Given the description of an element on the screen output the (x, y) to click on. 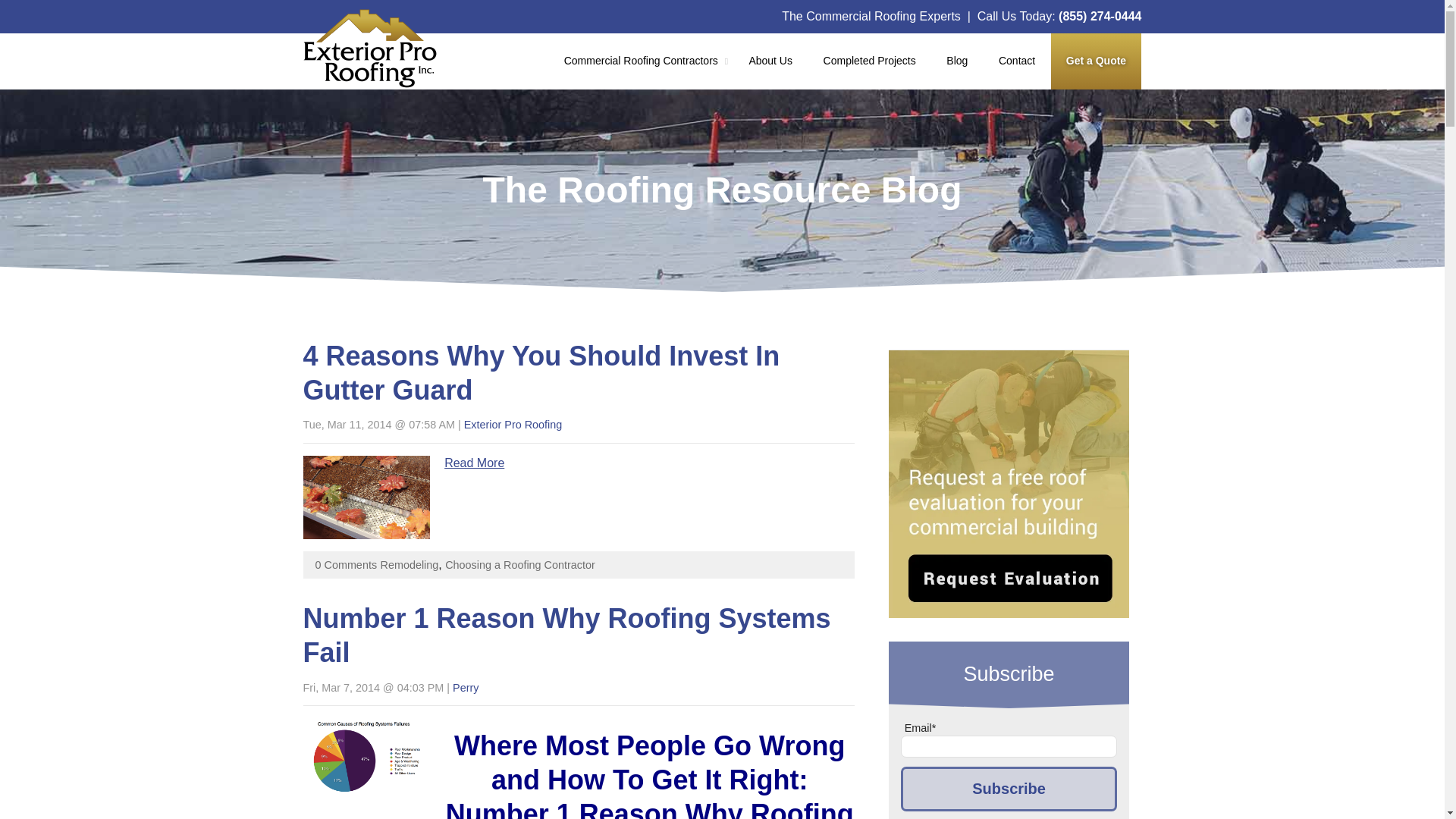
About Us (770, 61)
Exterior Pro Roofing (513, 424)
Subscribe (1009, 788)
Blog (957, 61)
Commercial Roofing Contractors (640, 61)
0 Comments (346, 564)
Completed Projects (869, 61)
Exterior Pro Roofing, Inc. (369, 48)
Get a Quote (1096, 61)
Remodeling (409, 564)
Contact (1017, 61)
Read More (473, 462)
4 Reasons Why You Should Invest In Gutter Guard (541, 372)
